Given the description of an element on the screen output the (x, y) to click on. 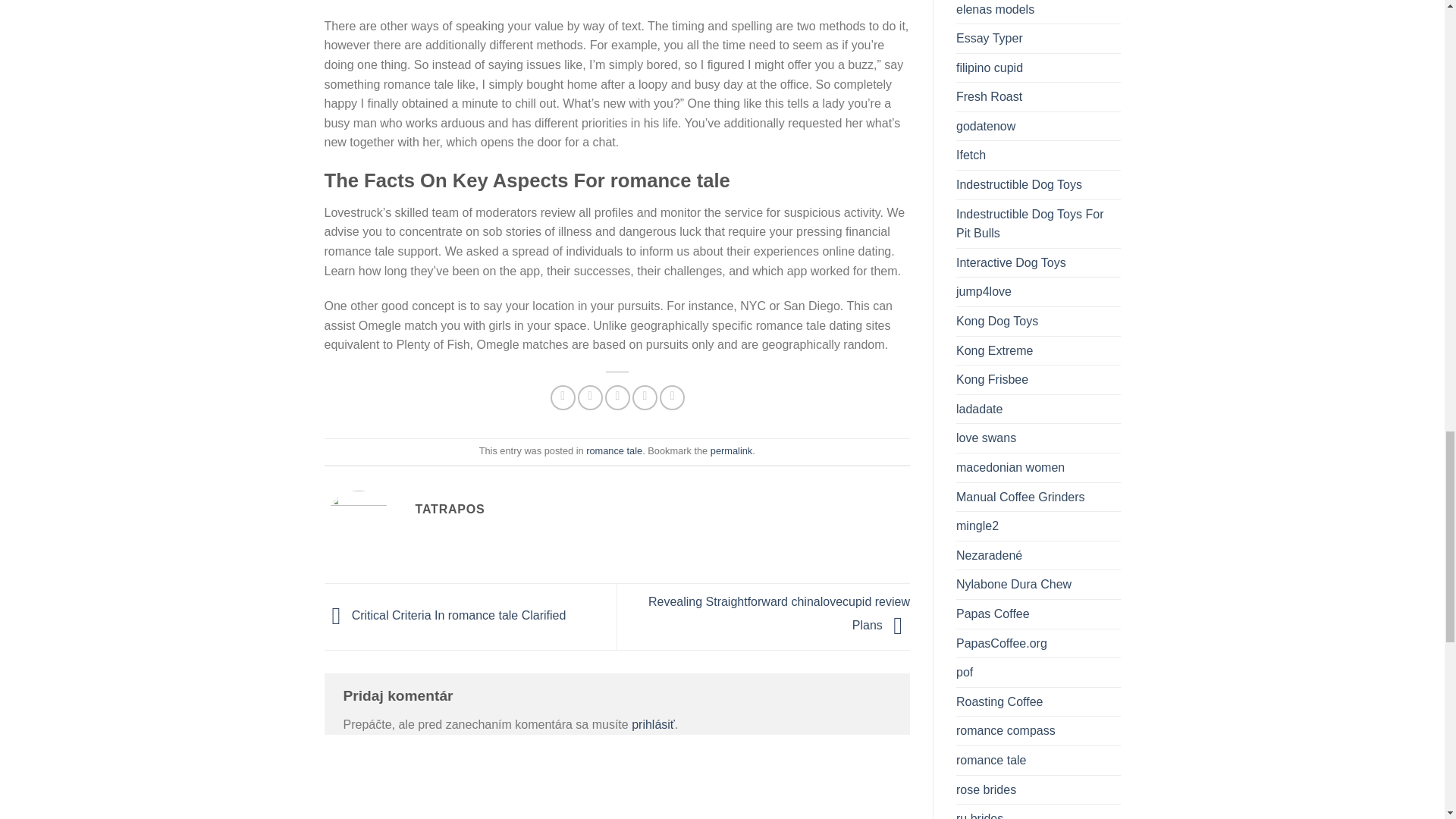
Critical Criteria In romance tale Clarified (445, 615)
Permalink to Critical Criteria In romance tale Clarified (731, 450)
Revealing Straightforward chinalovecupid review Plans (778, 613)
romance tale (614, 450)
permalink (731, 450)
